Given the description of an element on the screen output the (x, y) to click on. 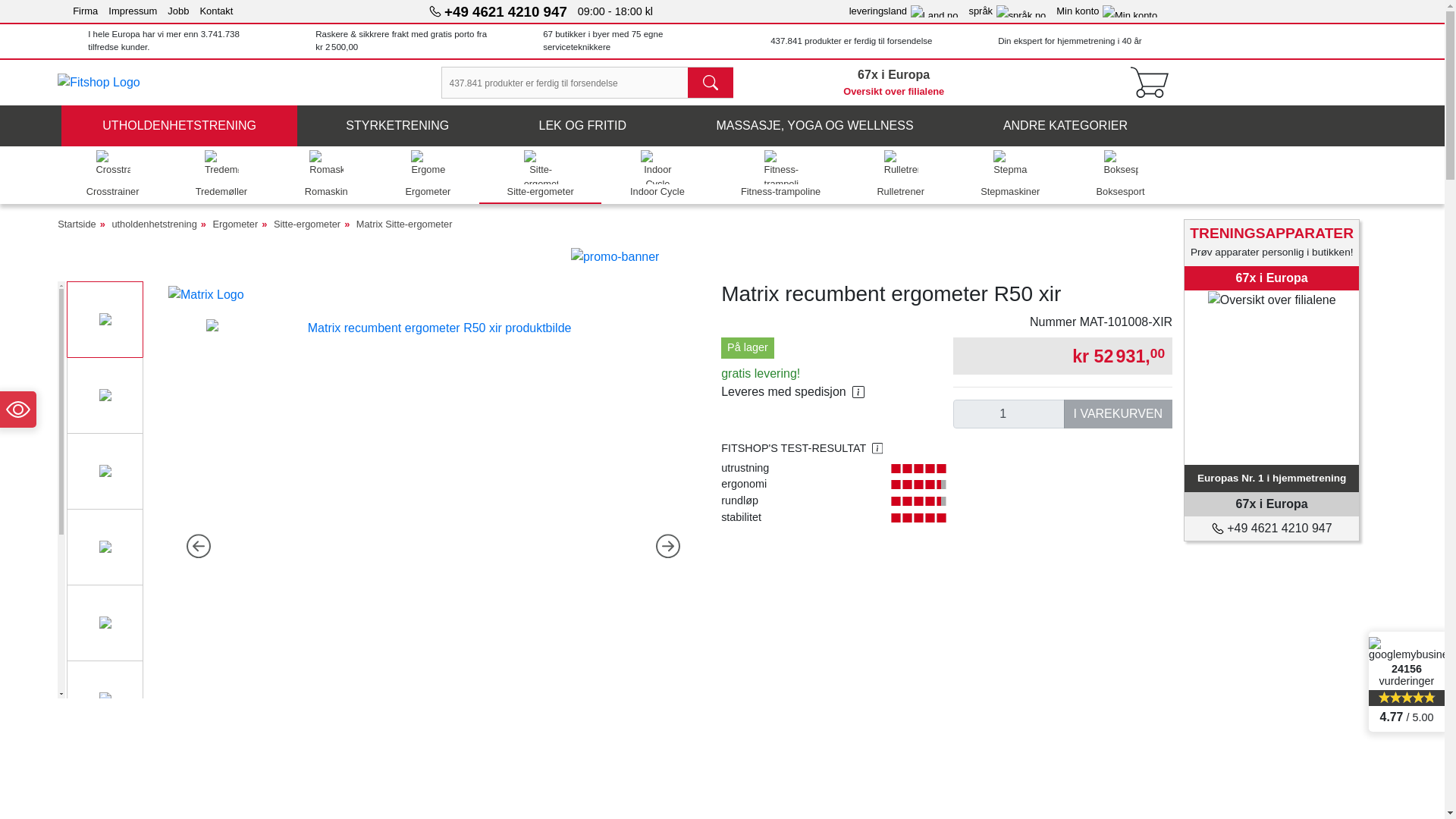
Massasje, yoga og wellness (815, 125)
Impressum (132, 10)
Firma (84, 10)
leveringsland (903, 10)
Andre kategorier (1065, 125)
Jobb (178, 10)
Min konto (894, 82)
Lek og fritid (1107, 10)
LEK OG FRITID (581, 125)
